Given the description of an element on the screen output the (x, y) to click on. 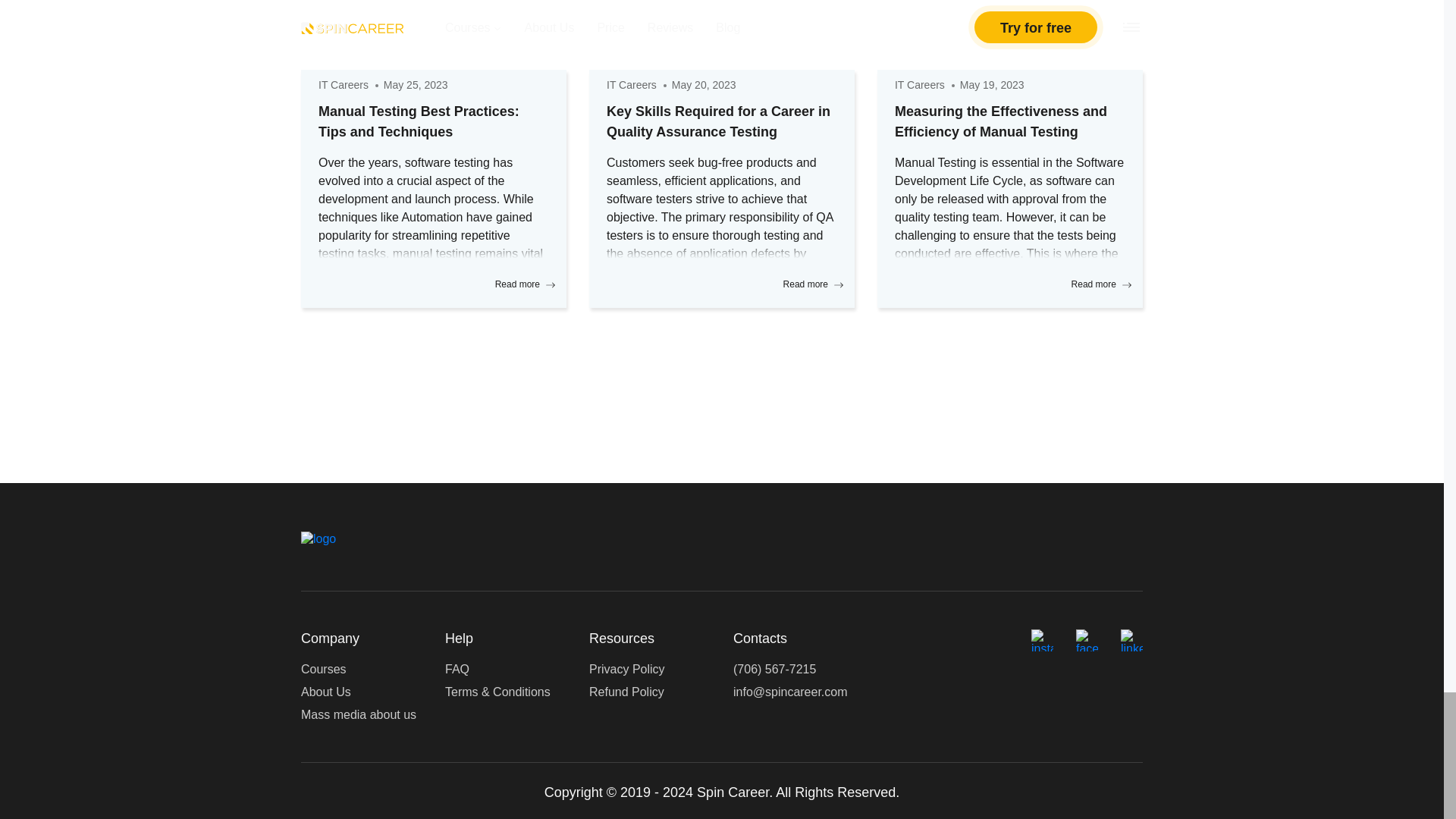
Privacy Policy (627, 668)
Mass media about us (358, 714)
FAQ (456, 668)
Courses (323, 668)
About Us (325, 691)
Refund Policy (626, 691)
